Given the description of an element on the screen output the (x, y) to click on. 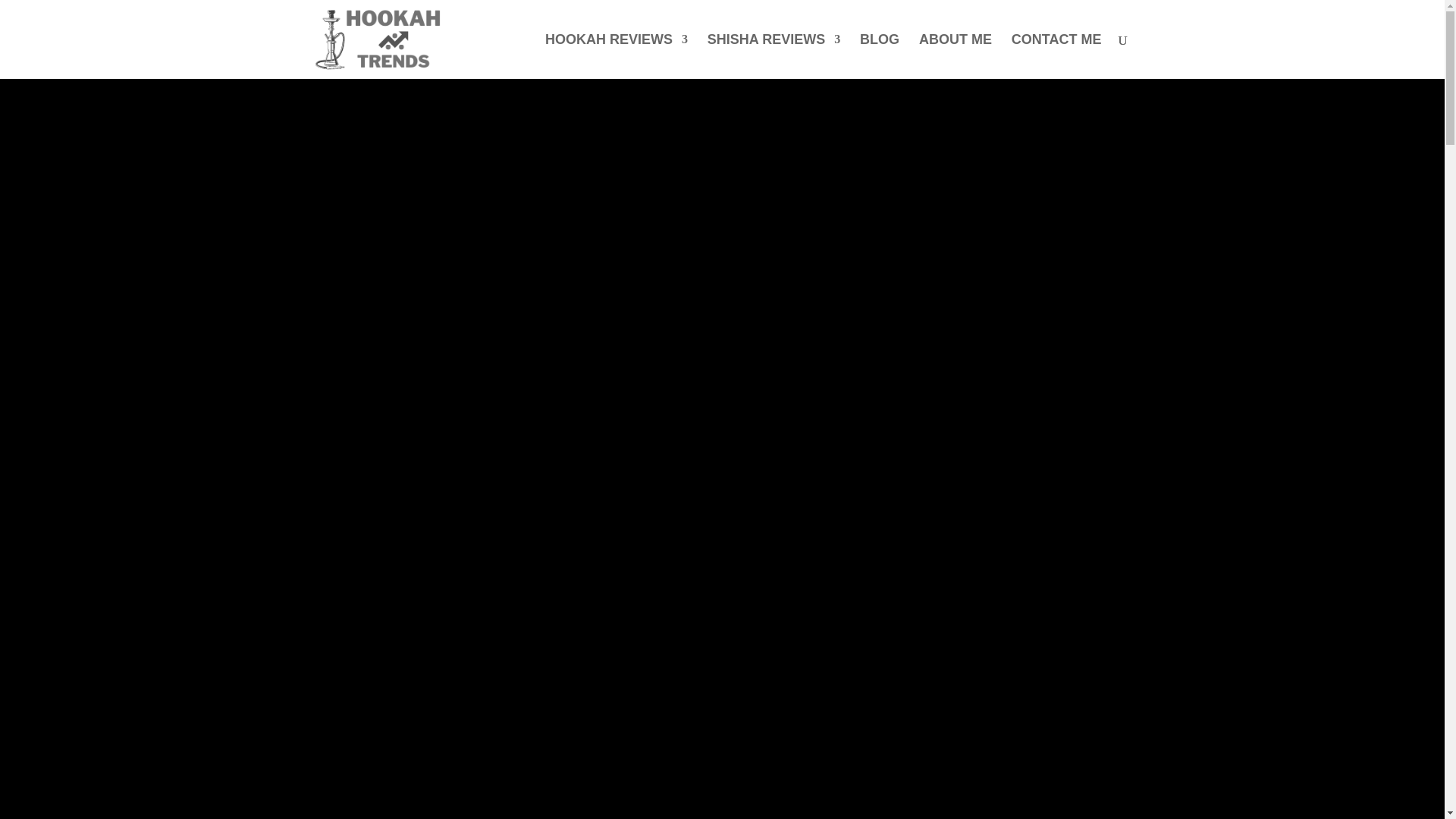
HOOKAH REVIEWS (615, 56)
SHISHA REVIEWS (773, 56)
ABOUT ME (954, 56)
CONTACT ME (1056, 56)
